Given the description of an element on the screen output the (x, y) to click on. 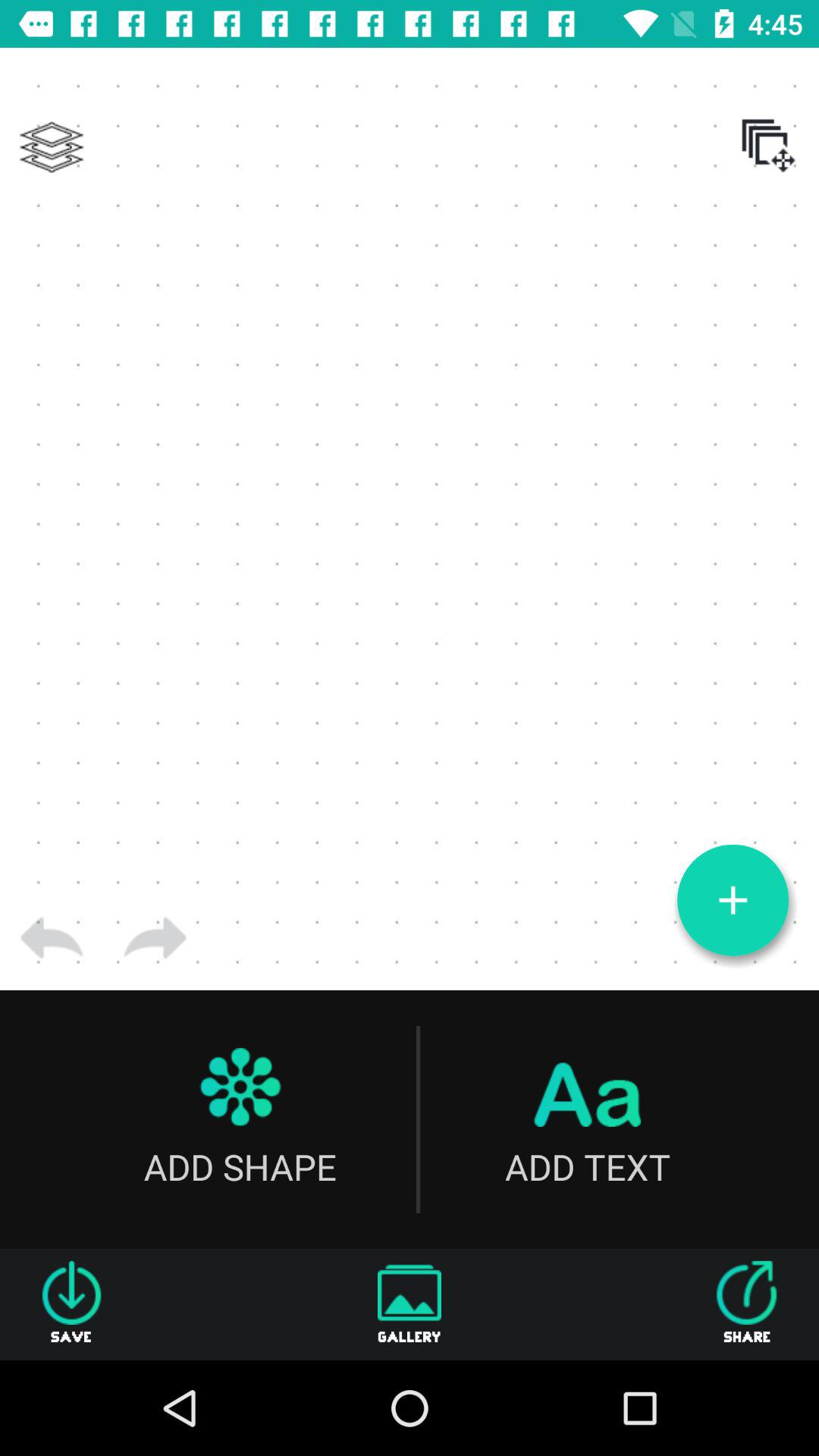
press item above add shape item (155, 938)
